Given the description of an element on the screen output the (x, y) to click on. 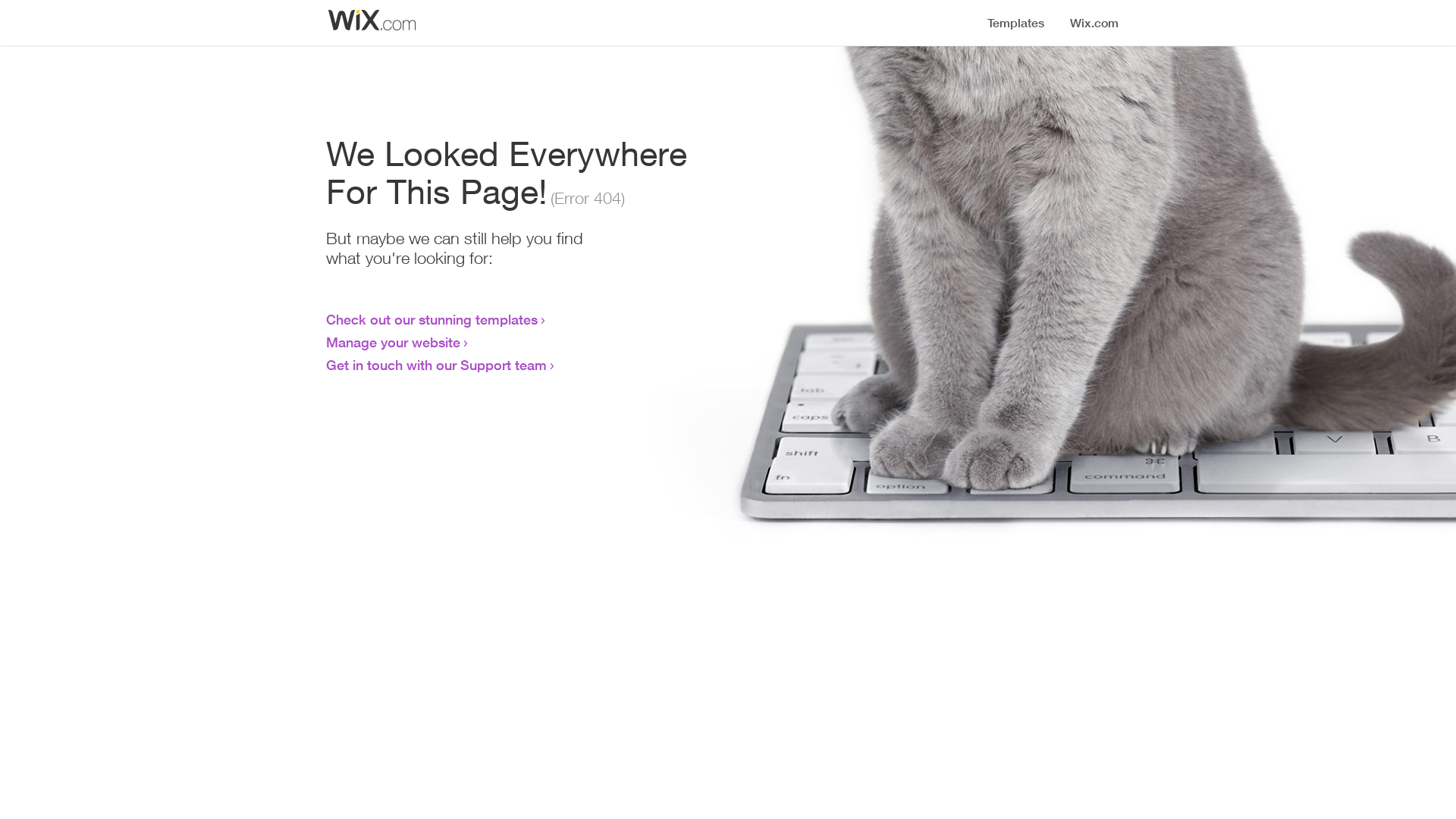
Manage your website Element type: text (393, 341)
Get in touch with our Support team Element type: text (436, 364)
Check out our stunning templates Element type: text (431, 318)
